Given the description of an element on the screen output the (x, y) to click on. 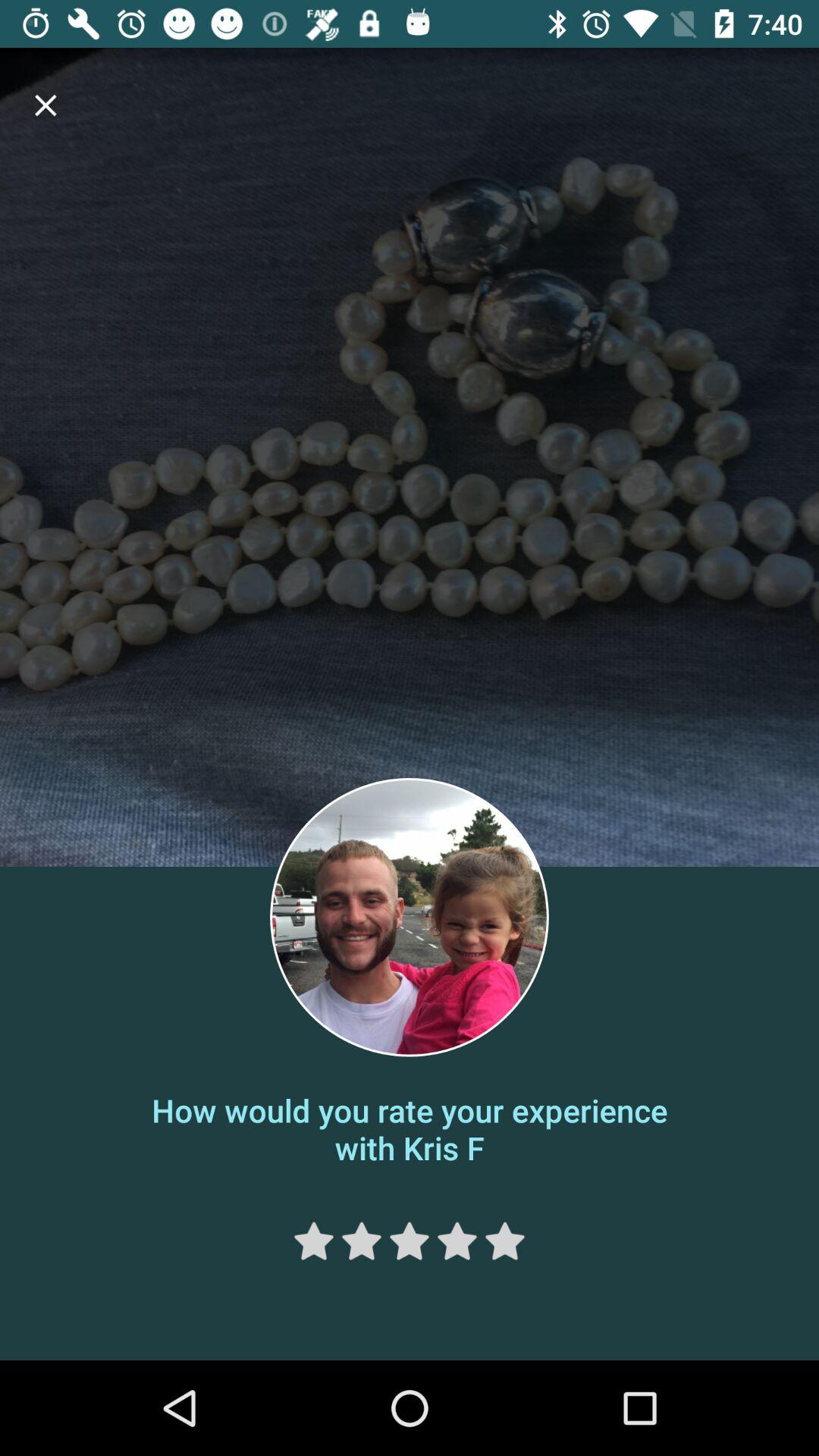
rating 4 stars (457, 1240)
